Given the description of an element on the screen output the (x, y) to click on. 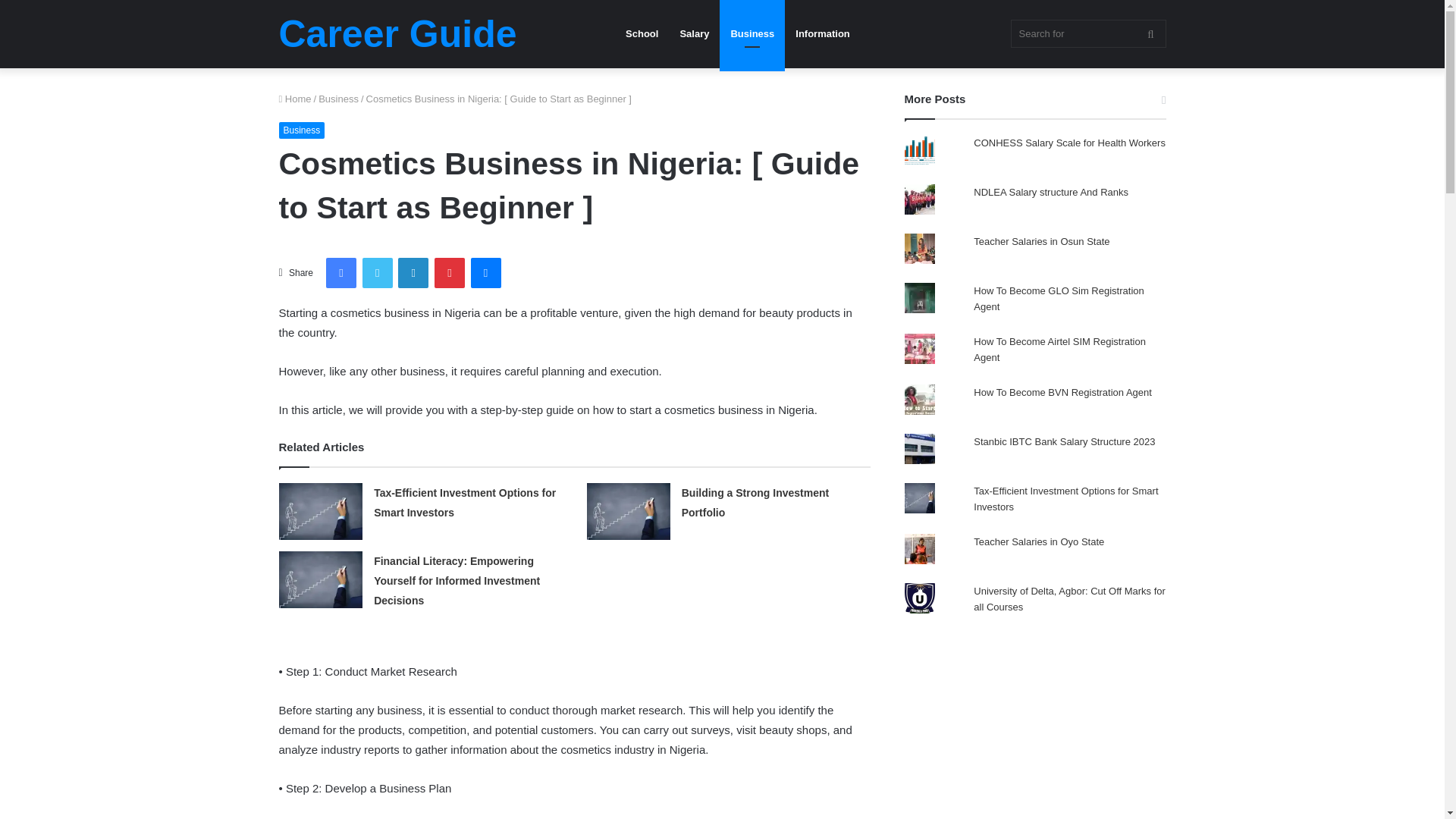
Business (301, 130)
Pinterest (448, 272)
Business (751, 33)
Twitter (377, 272)
Career Guide (397, 34)
Messenger (485, 272)
Twitter (377, 272)
Facebook (341, 272)
Career Guide (397, 34)
Home (295, 98)
LinkedIn (412, 272)
Facebook (341, 272)
Tax-Efficient Investment Options for Smart Investors (465, 502)
Information (822, 33)
